Given the description of an element on the screen output the (x, y) to click on. 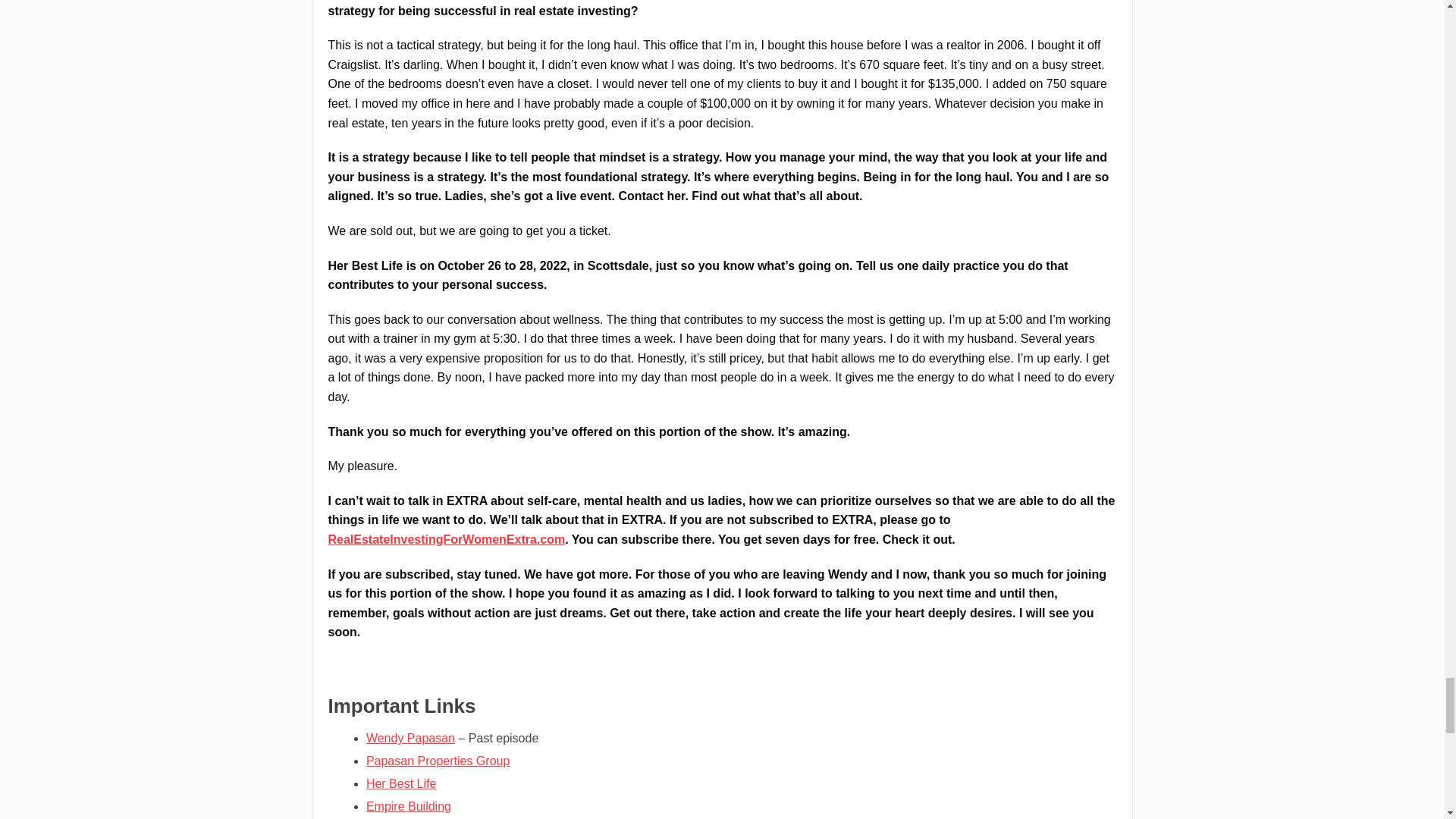
Empire Building (408, 806)
Her Best Life (400, 783)
Wendy Papasan (410, 738)
Papasan Properties Group (437, 760)
RealEstateInvestingForWomenExtra.com (445, 539)
